Given the description of an element on the screen output the (x, y) to click on. 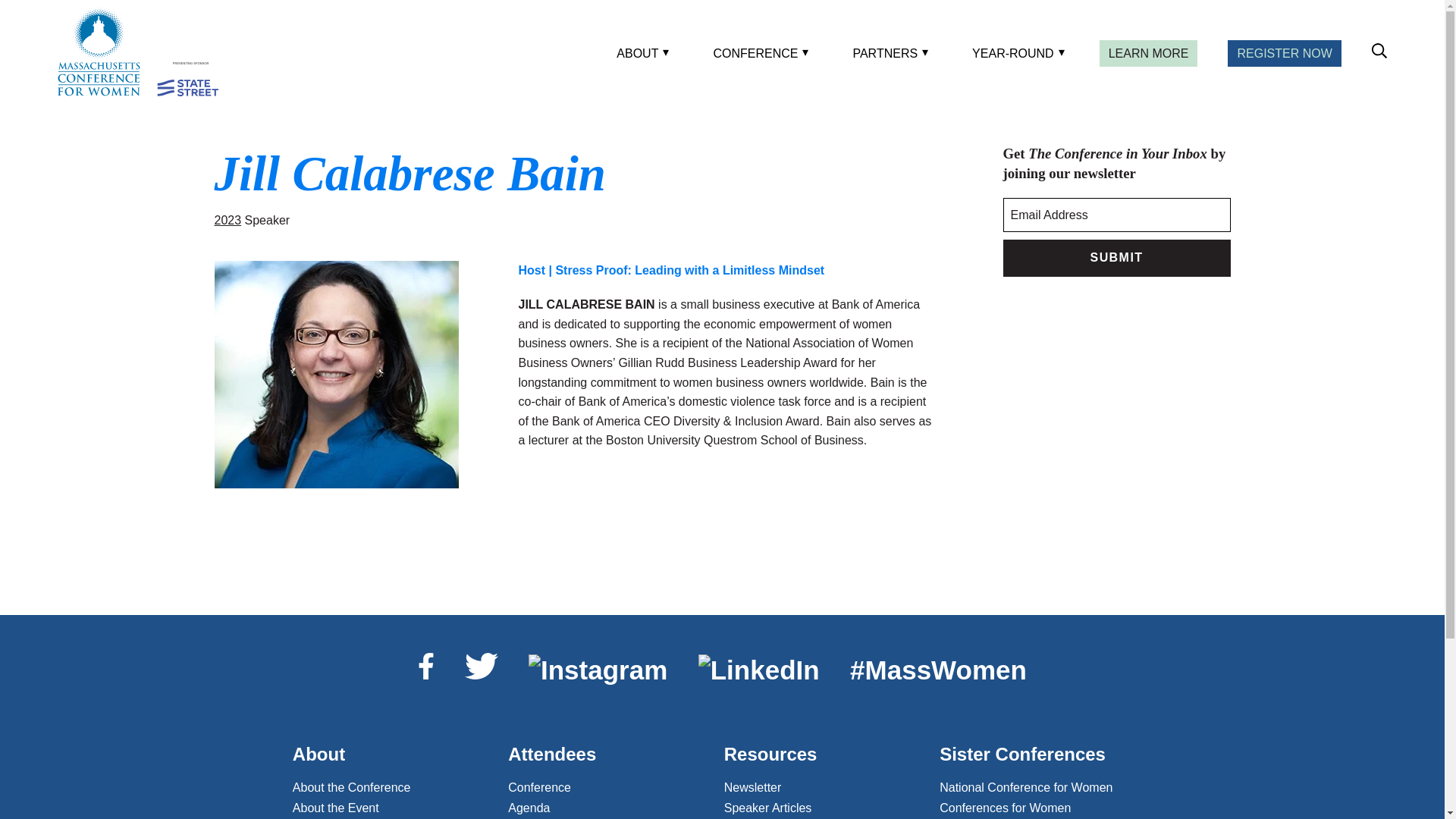
REGISTER NOW (1283, 53)
YEAR-ROUND (1015, 53)
CONFERENCE (757, 53)
2023 (227, 219)
LEARN MORE (1148, 53)
ABOUT (639, 53)
PARTNERS (888, 53)
